Given the description of an element on the screen output the (x, y) to click on. 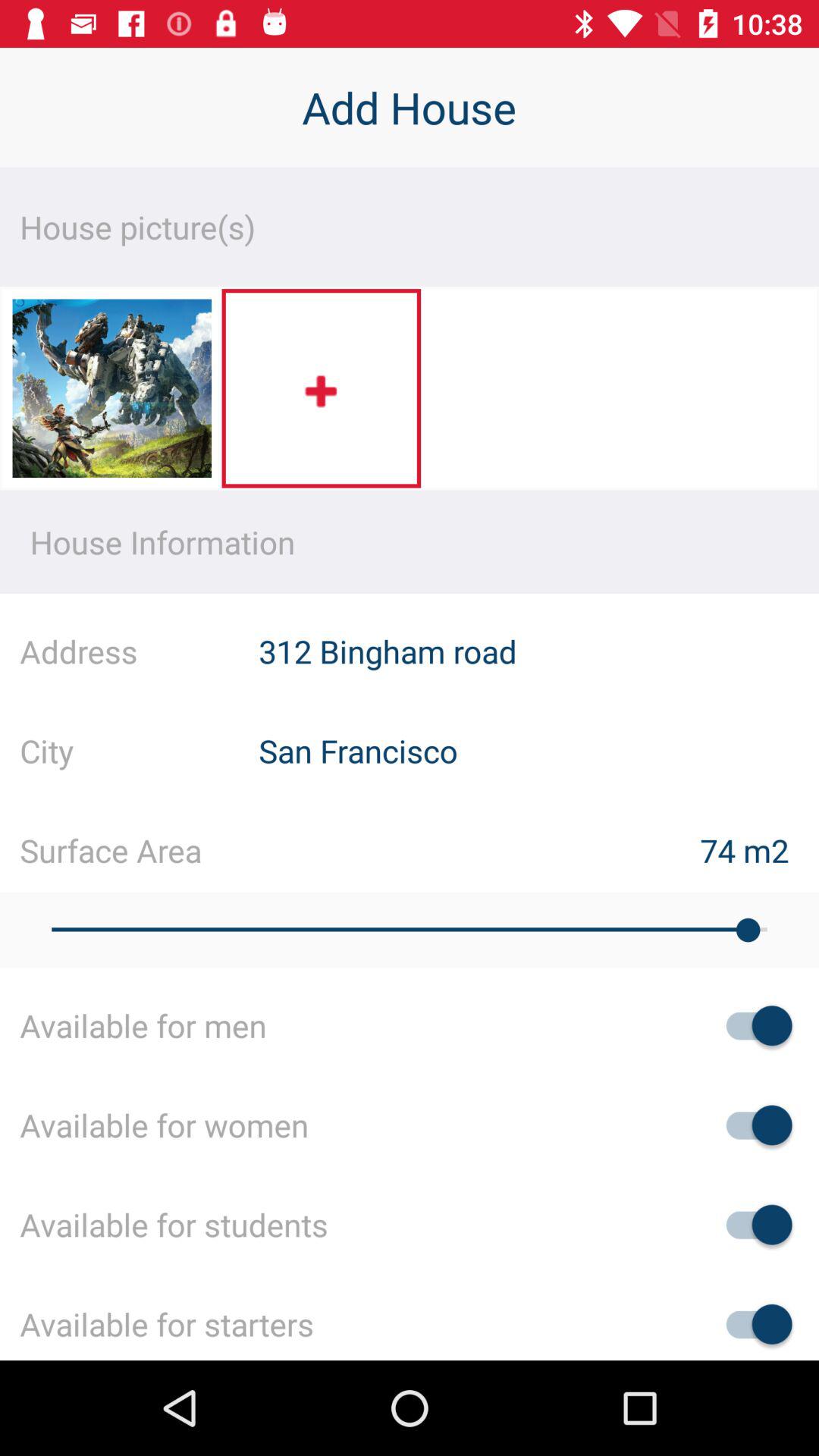
select available for women (751, 1125)
